Given the description of an element on the screen output the (x, y) to click on. 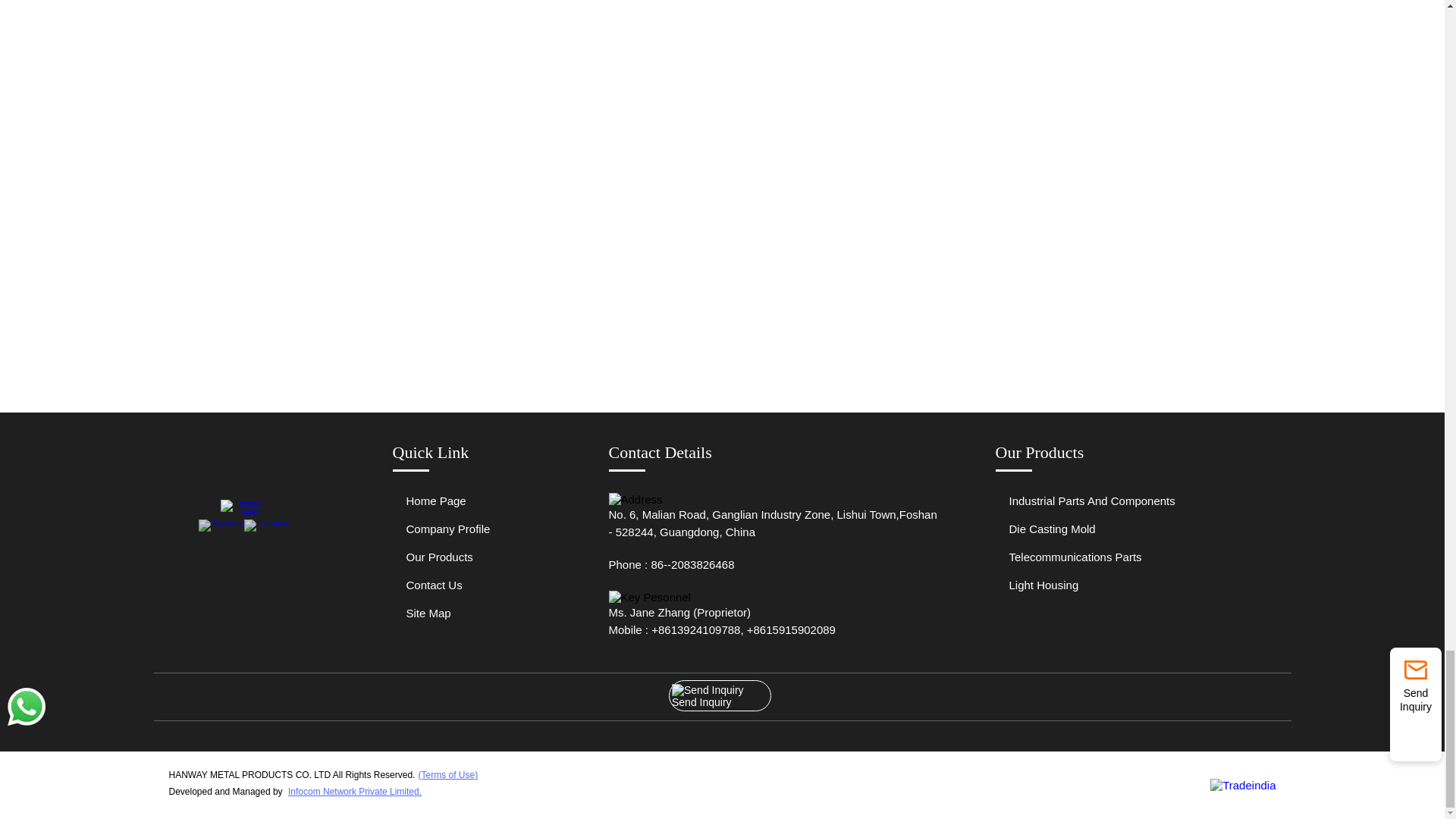
Facebook (221, 523)
Address (635, 499)
Key Personnel (649, 596)
Instagram (266, 523)
